Given the description of an element on the screen output the (x, y) to click on. 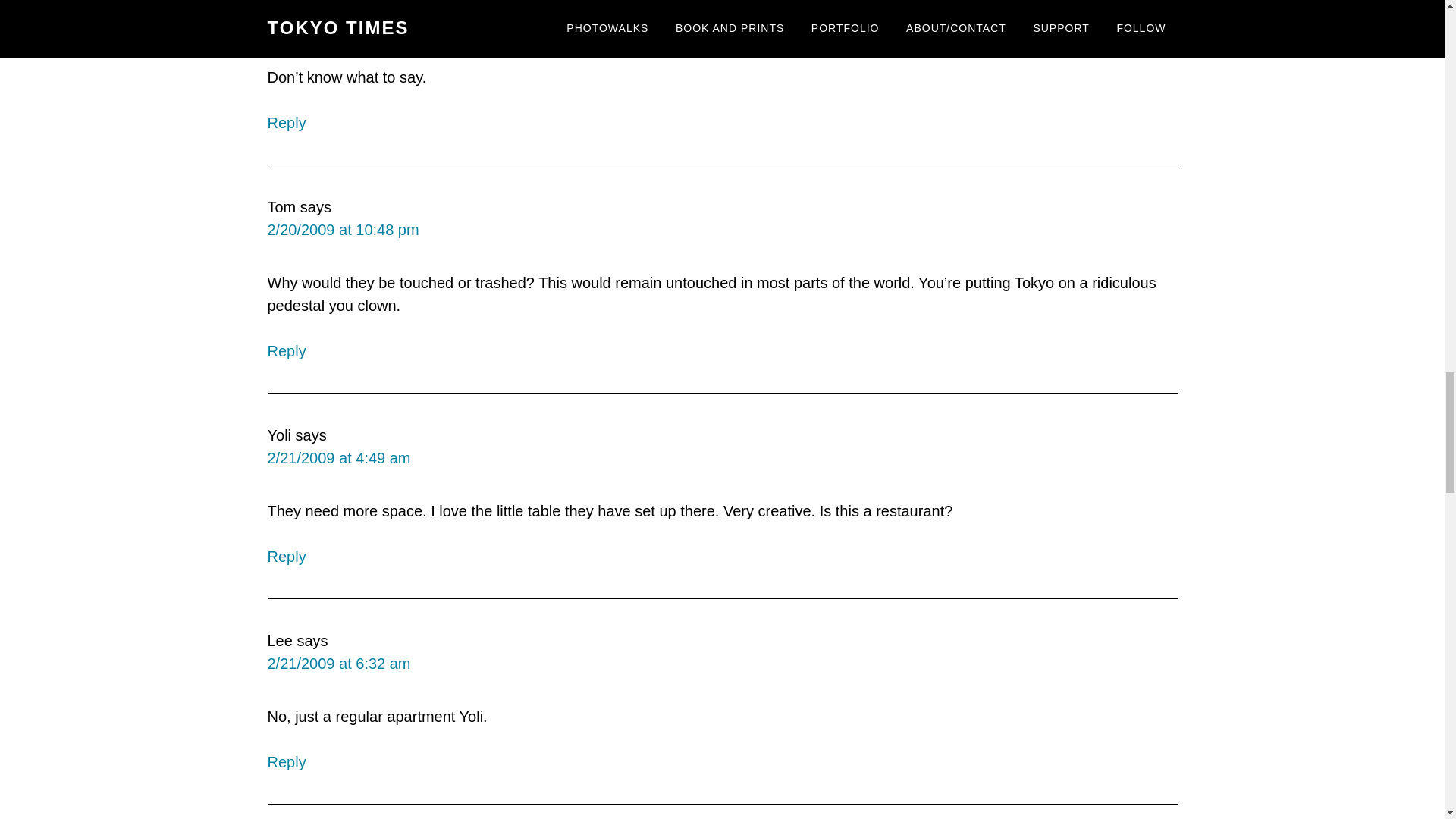
Reply (285, 122)
Reply (285, 761)
Reply (285, 351)
Kesenaitsumi (312, 4)
Reply (285, 556)
